Given the description of an element on the screen output the (x, y) to click on. 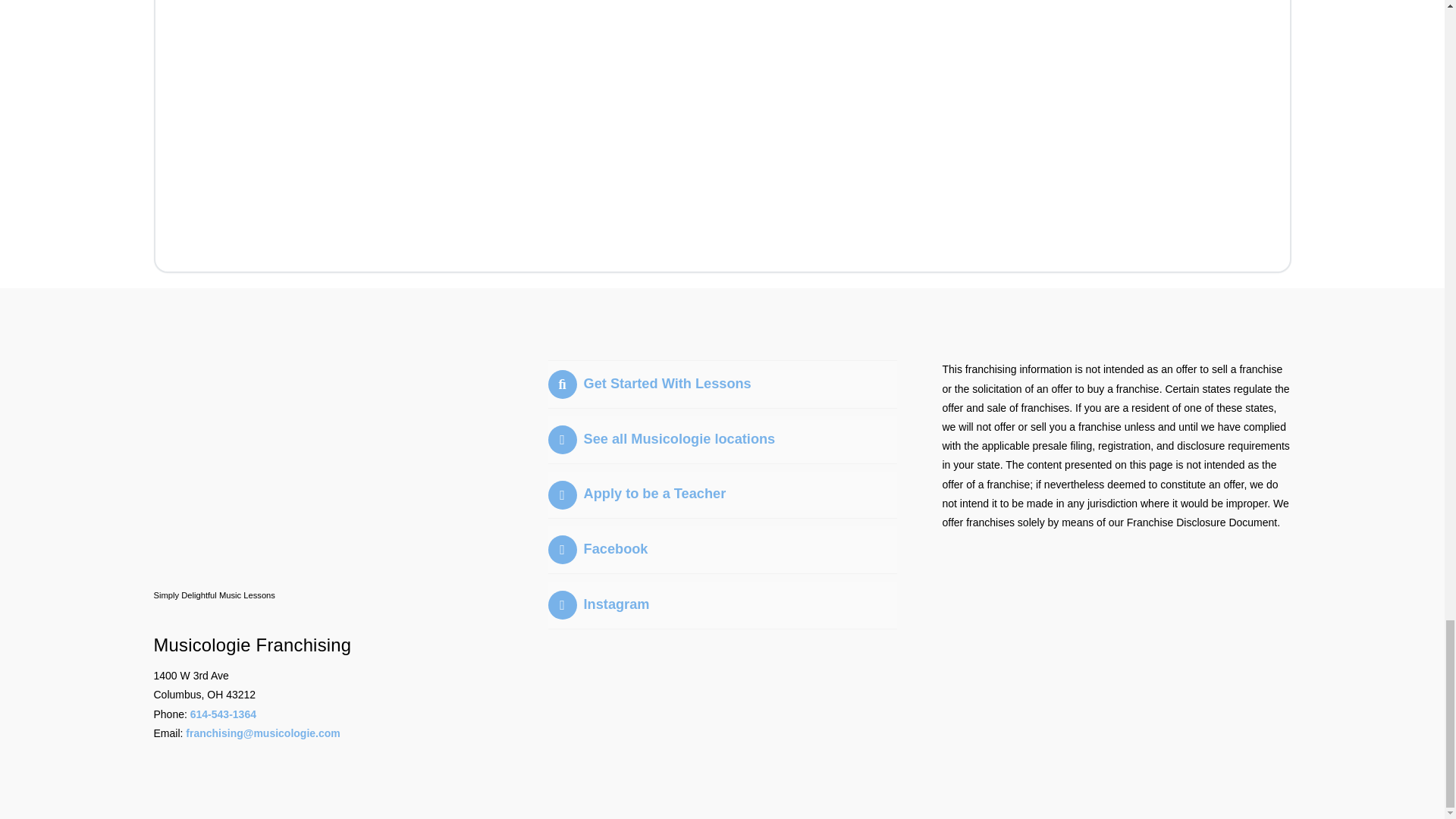
Instagram (598, 604)
See all Musicologie locations (660, 438)
Get Started With Lessons (649, 383)
Facebook (597, 548)
Apply to be a Teacher (636, 493)
